Given the description of an element on the screen output the (x, y) to click on. 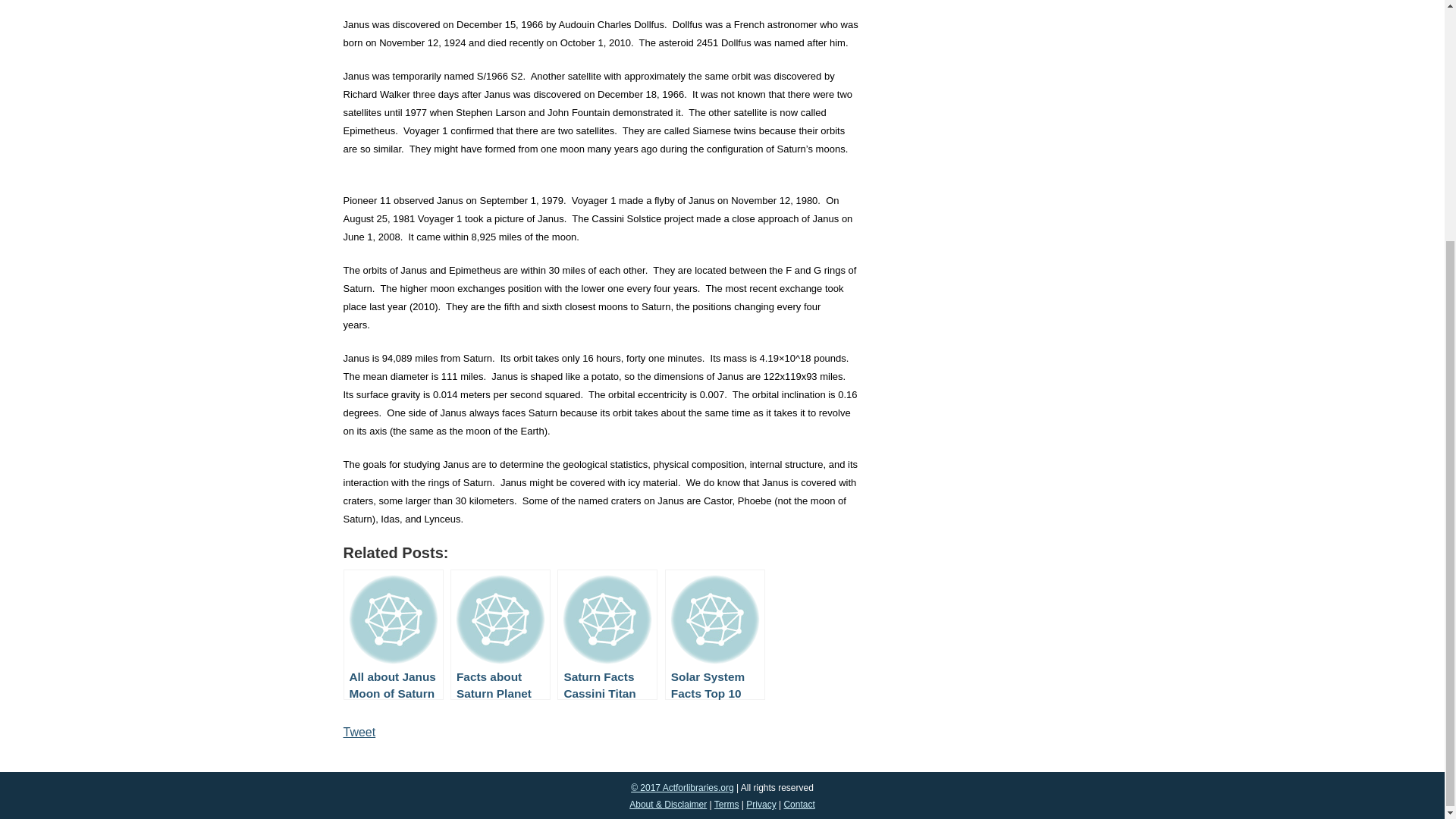
Tweet (358, 731)
Privacy (760, 804)
Terms (726, 804)
Contact (798, 804)
